Given the description of an element on the screen output the (x, y) to click on. 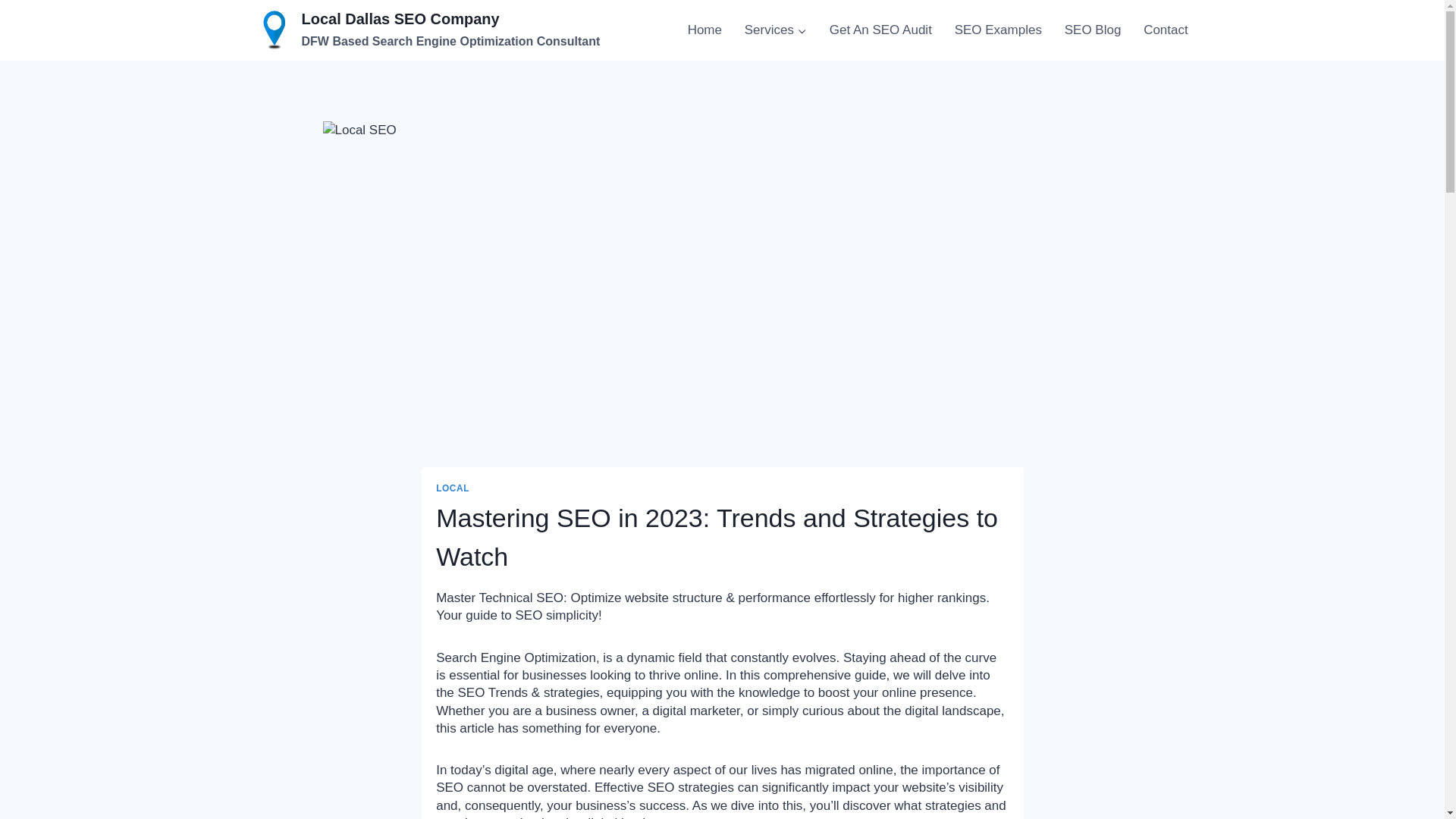
LOCAL (451, 488)
See Live SEO Examples (998, 29)
Local SEO Blog (1092, 29)
SEO Blog (1092, 29)
Contact (1165, 29)
SEO Examples (998, 29)
Contact an SEO Consultant Dallas (1165, 29)
Home (704, 29)
Services (775, 29)
